Given the description of an element on the screen output the (x, y) to click on. 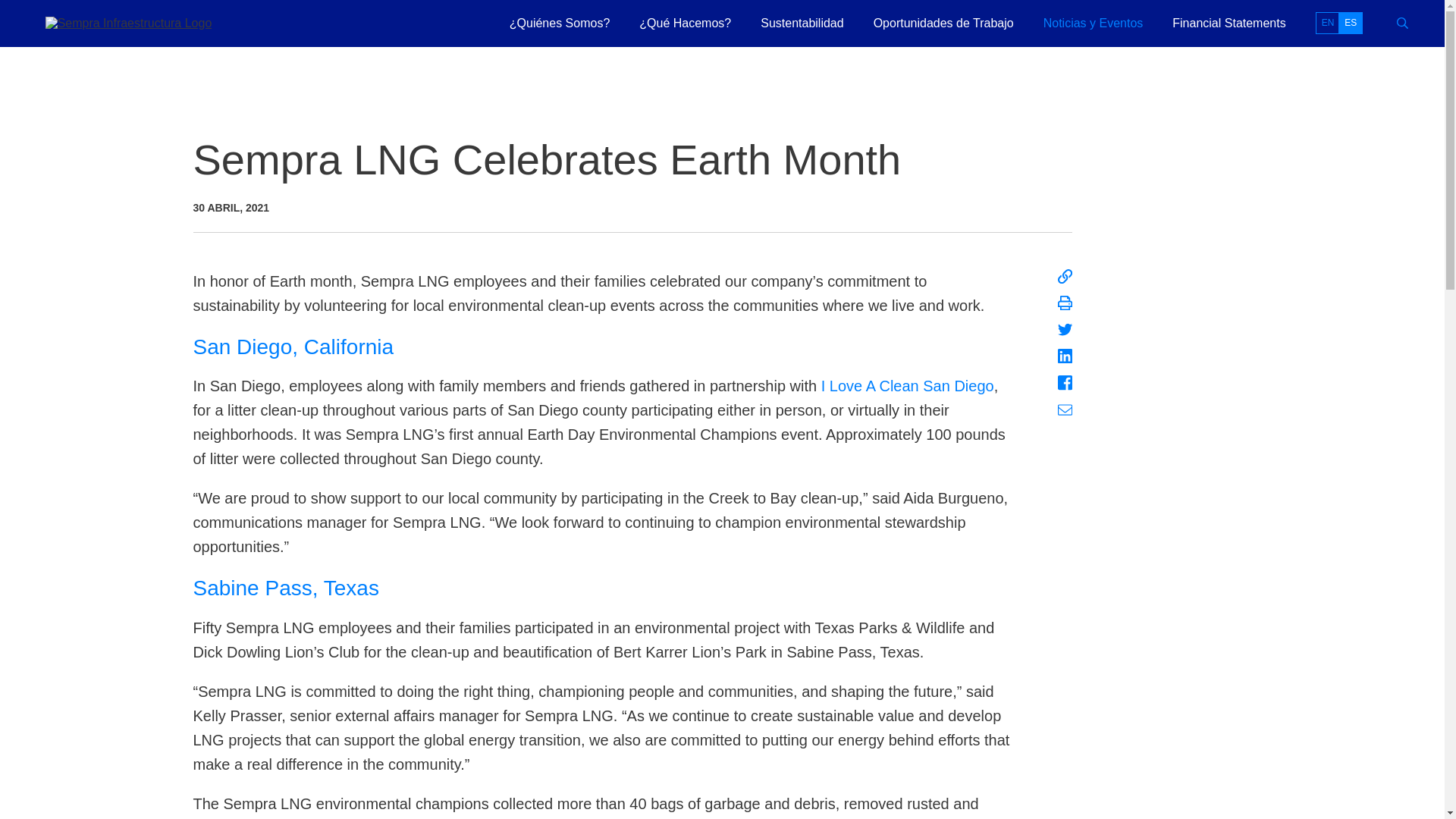
Print (1064, 302)
Share on LinkedIn (1064, 355)
Copy link (1064, 276)
Share on Twitter (1064, 329)
I Love A Clean San Diego (907, 385)
Share on Facebook (1064, 382)
EN (1327, 23)
Email (1064, 409)
